Given the description of an element on the screen output the (x, y) to click on. 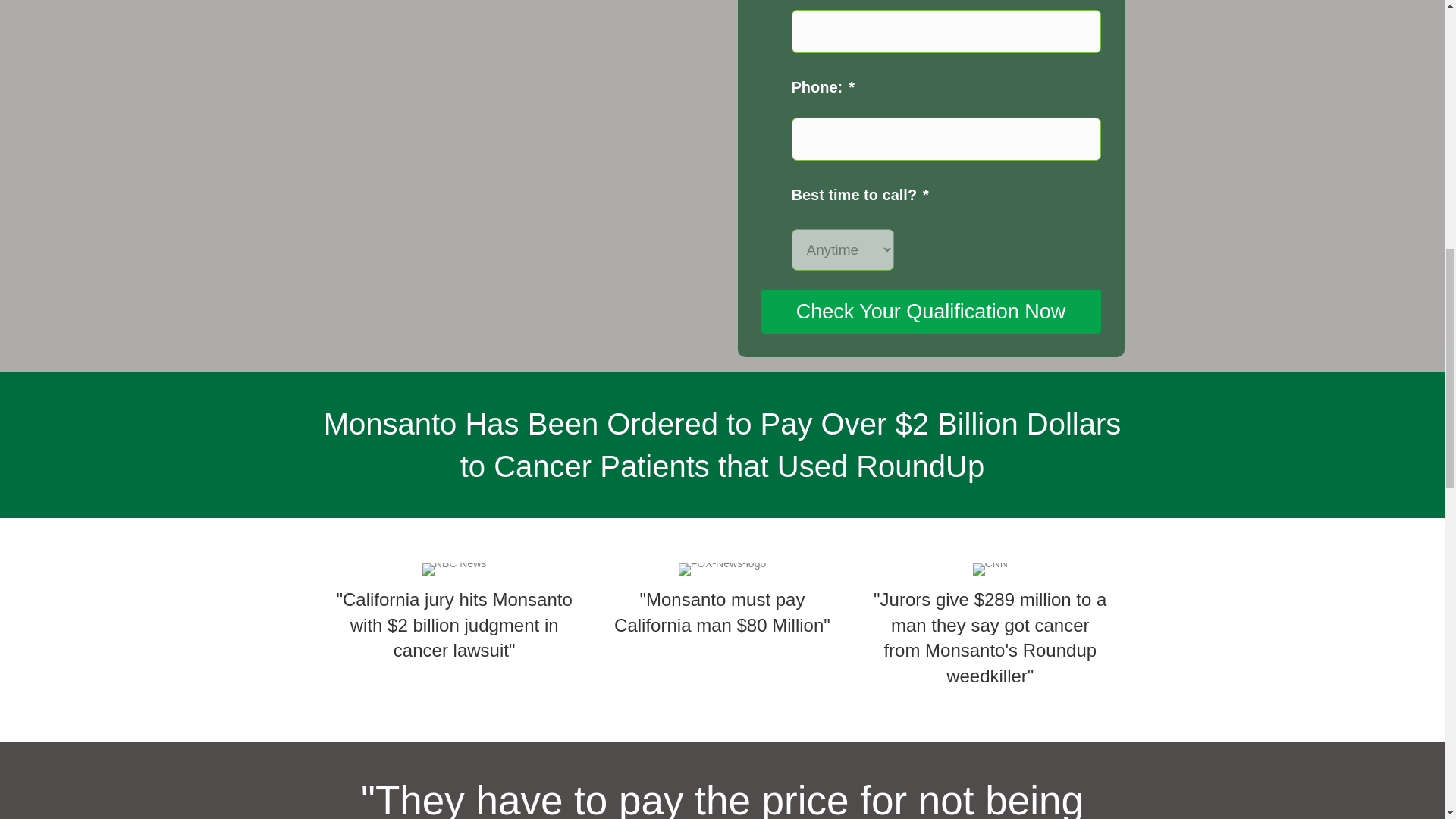
NBC-News (454, 569)
FOX-News-logo (722, 569)
CNN (989, 569)
Check Your Qualification Now (930, 311)
Check Your Qualification Now (930, 311)
